Given the description of an element on the screen output the (x, y) to click on. 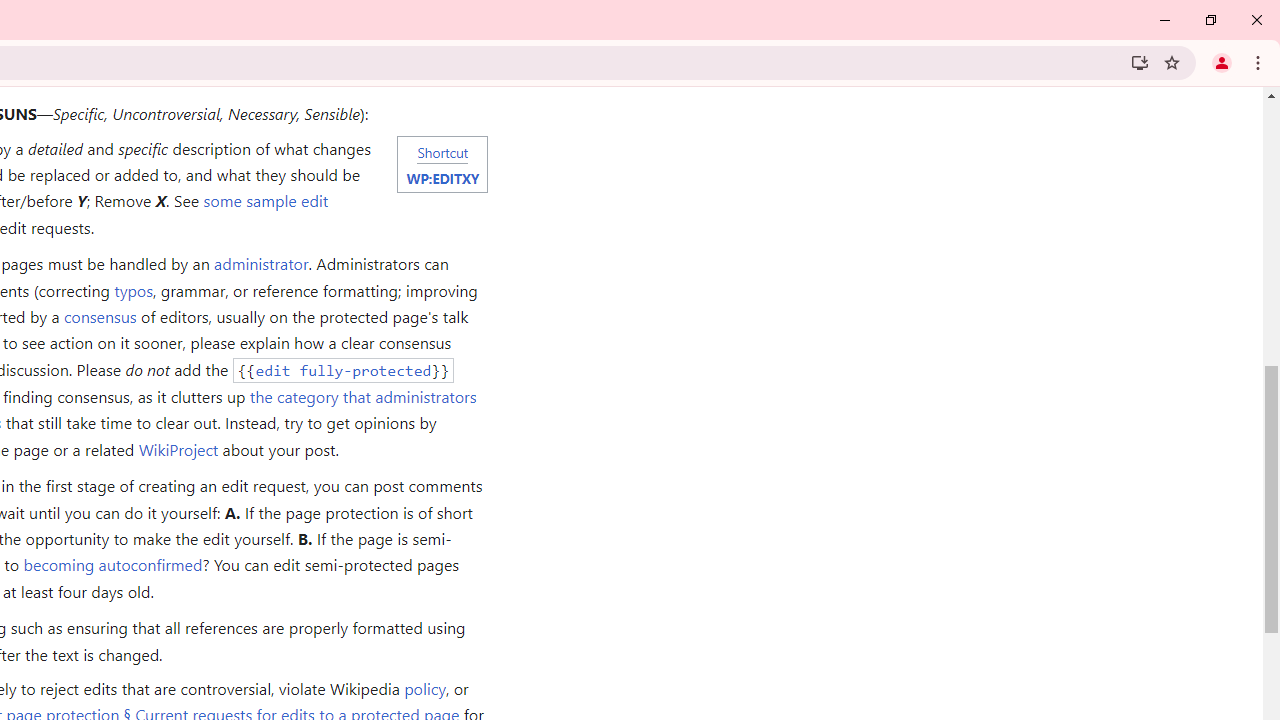
edit fully-protected (343, 370)
